Given the description of an element on the screen output the (x, y) to click on. 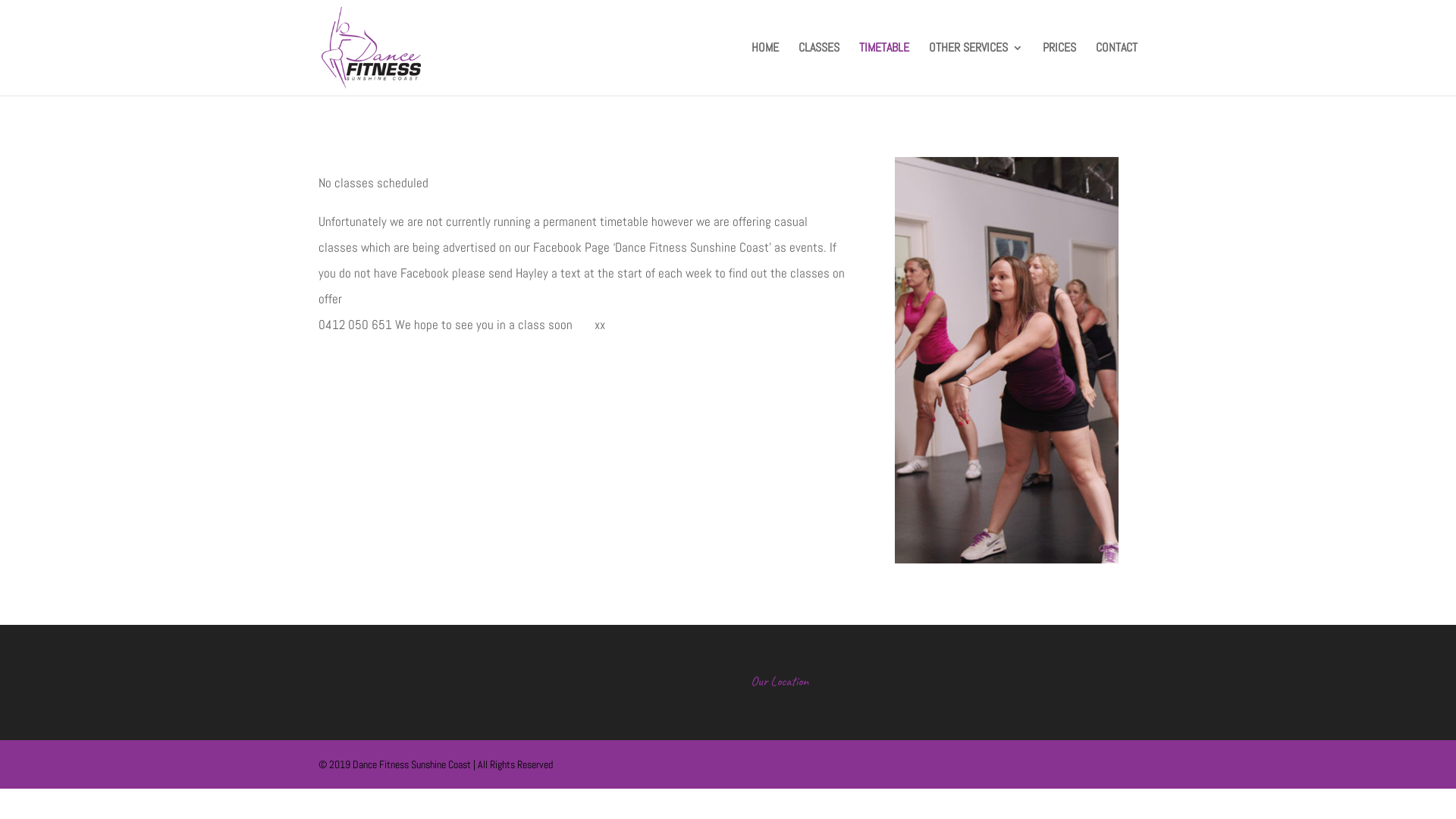
CLASSES Element type: text (818, 68)
OTHER SERVICES Element type: text (975, 68)
CONTACT Element type: text (1116, 68)
PRICES Element type: text (1059, 68)
TIMETABLE Element type: text (884, 68)
HOME Element type: text (764, 68)
